Given the description of an element on the screen output the (x, y) to click on. 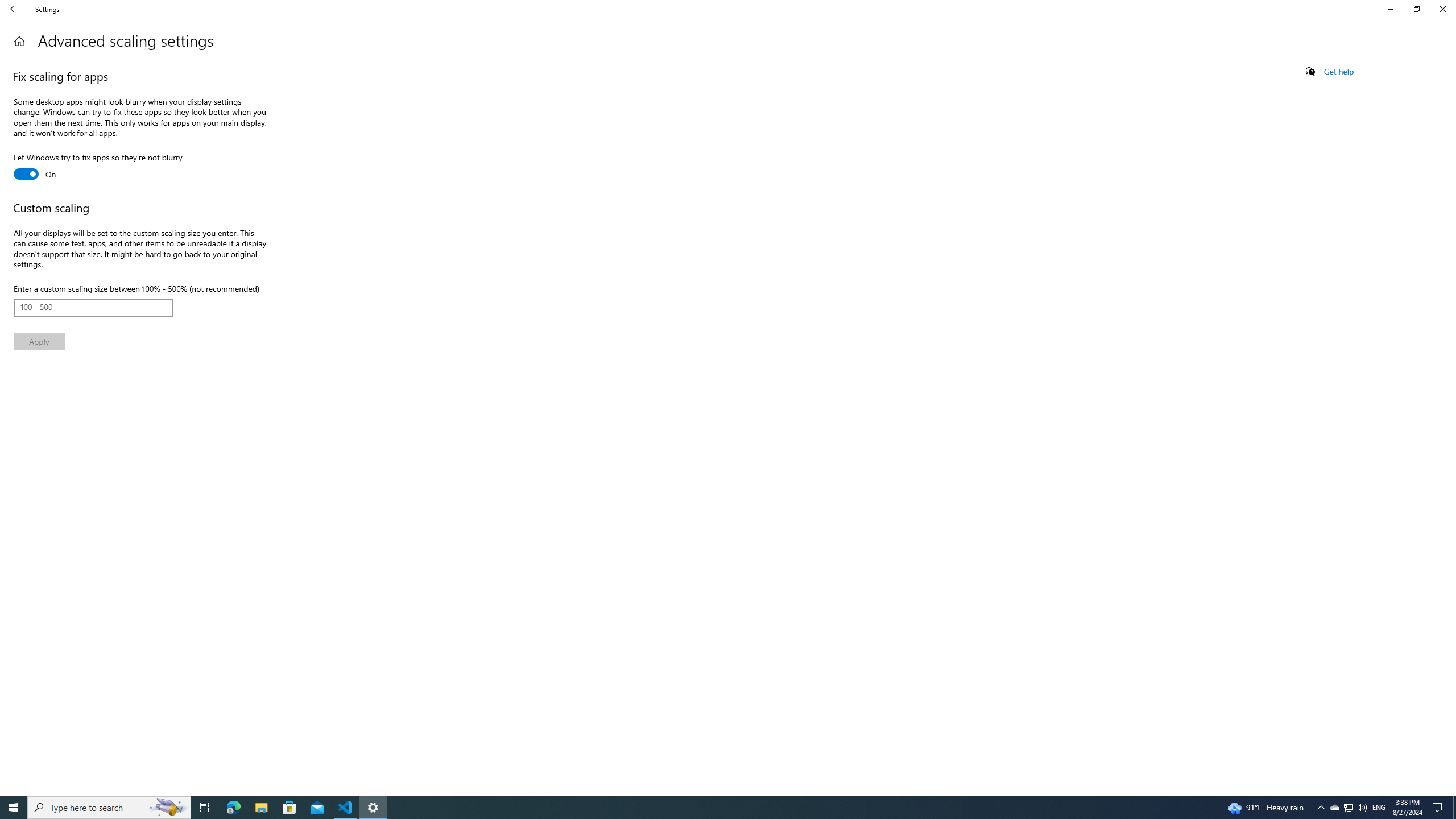
Microsoft Edge (233, 807)
Minimize Settings (1390, 9)
Notification Chevron (1320, 807)
User Promoted Notification Area (1347, 807)
File Explorer (261, 807)
Running applications (706, 807)
Search highlights icon opens search home window (167, 807)
Back (13, 9)
Tray Input Indicator - English (United States) (1378, 807)
Restore Settings (1416, 9)
Microsoft Store (289, 807)
Close Settings (1442, 9)
Apply (1347, 807)
Task View (39, 341)
